Given the description of an element on the screen output the (x, y) to click on. 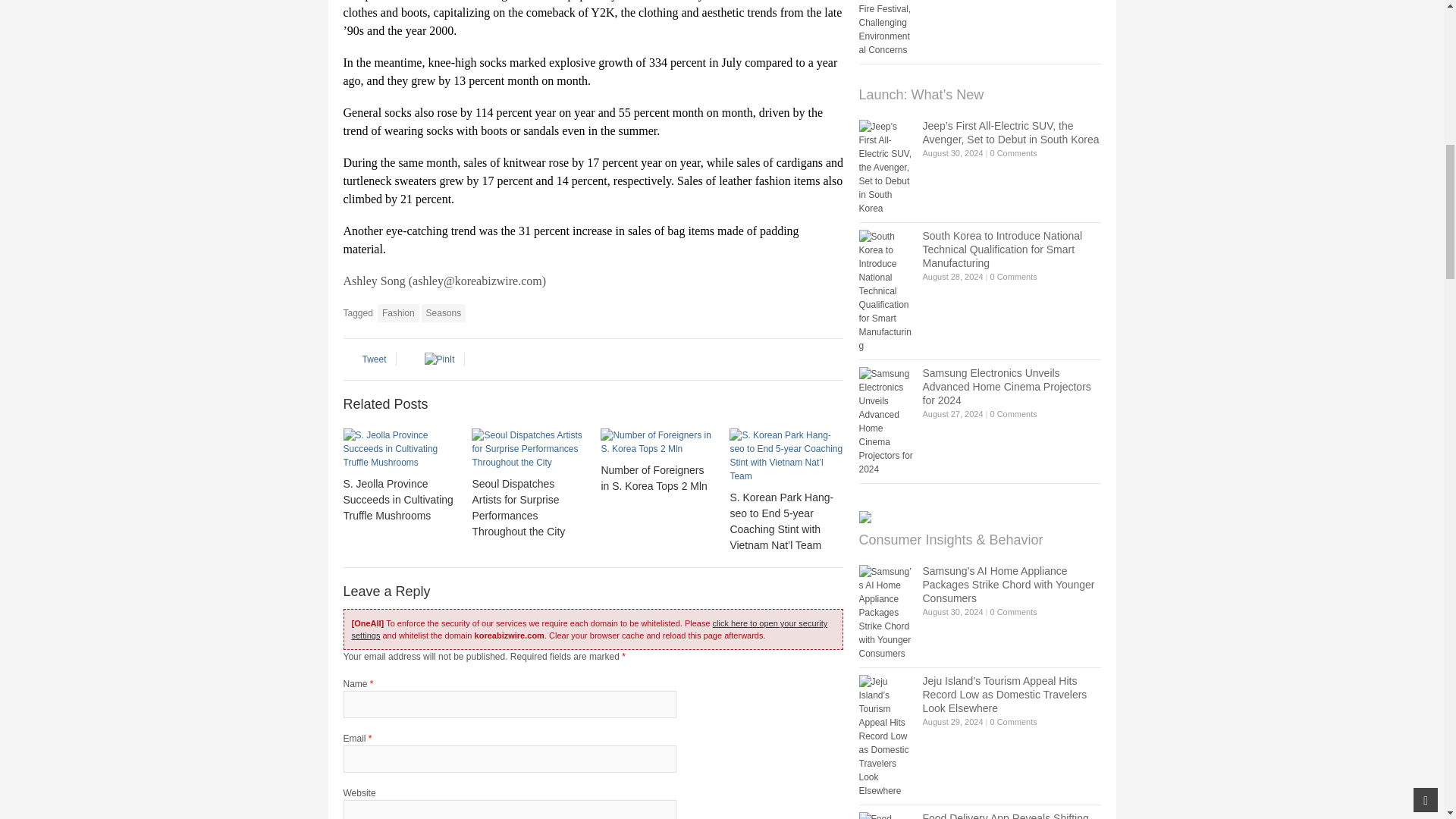
S. Jeolla Province Succeeds in Cultivating Truffle Mushrooms (397, 499)
S. Jeolla Province Succeeds in Cultivating Truffle Mushrooms (399, 448)
